Given the description of an element on the screen output the (x, y) to click on. 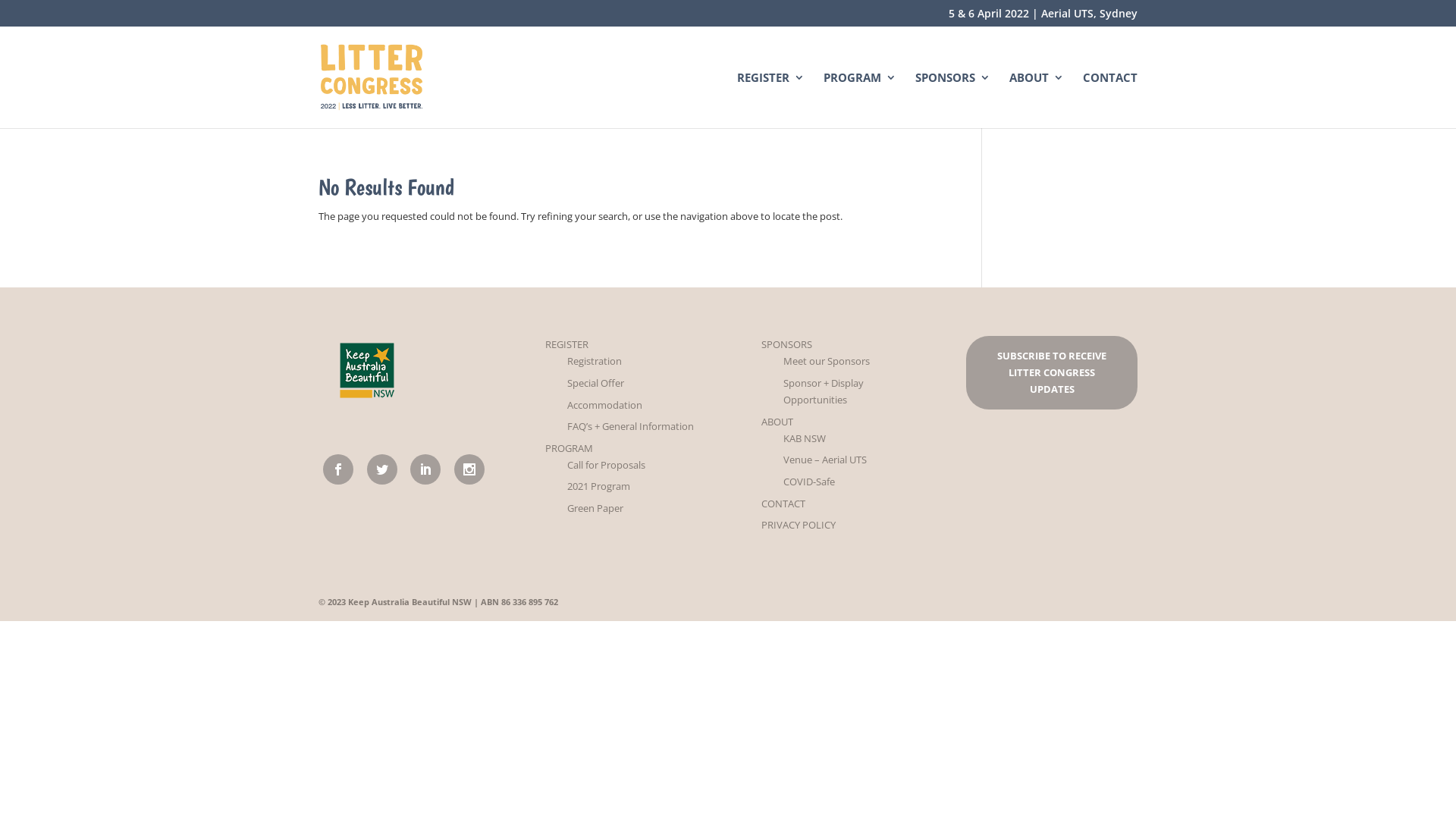
Meet our Sponsors Element type: text (826, 360)
KAB NSW Element type: text (804, 438)
Registration Element type: text (594, 360)
ABOUT Element type: text (777, 421)
SUBSCRIBE TO RECEIVE LITTER CONGRESS UPDATES Element type: text (1051, 371)
5 & 6 April 2022 | Aerial UTS, Sydney Element type: text (1042, 16)
PROGRAM Element type: text (859, 100)
Green Paper Element type: text (595, 507)
Sponsor + Display Opportunities Element type: text (823, 391)
COVID-Safe Element type: text (808, 481)
ABOUT Element type: text (1036, 100)
Call for Proposals Element type: text (606, 464)
Accommodation Element type: text (604, 404)
PROGRAM Element type: text (569, 448)
2021 Program Element type: text (598, 485)
CONTACT Element type: text (1109, 100)
REGISTER Element type: text (566, 344)
CONTACT Element type: text (783, 503)
REGISTER Element type: text (770, 100)
PRIVACY POLICY Element type: text (798, 524)
SPONSORS Element type: text (952, 100)
Special Offer Element type: text (595, 382)
SPONSORS Element type: text (786, 344)
